Given the description of an element on the screen output the (x, y) to click on. 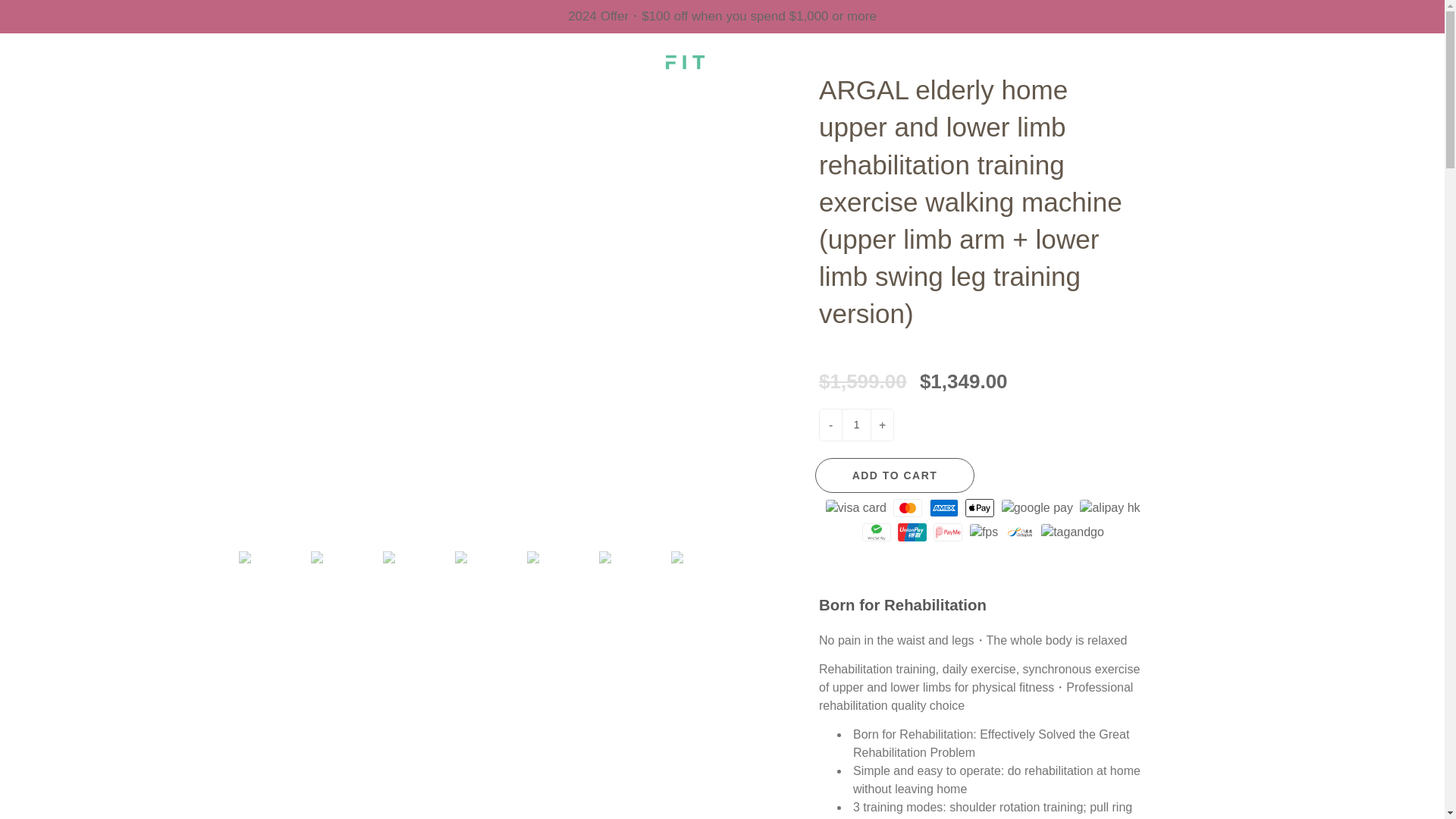
SMART LIFE (1070, 109)
My account (1379, 59)
FITNESS EQUIPMENTS (770, 109)
ERGONOMICS (937, 109)
Search (28, 59)
MASSAGE SUPPLIES (415, 109)
LATEST OFFER (251, 109)
1 (855, 424)
YOGA SUPPLIES (590, 109)
CONTACT US (1199, 109)
You have 0 items in your cart (1417, 59)
